Given the description of an element on the screen output the (x, y) to click on. 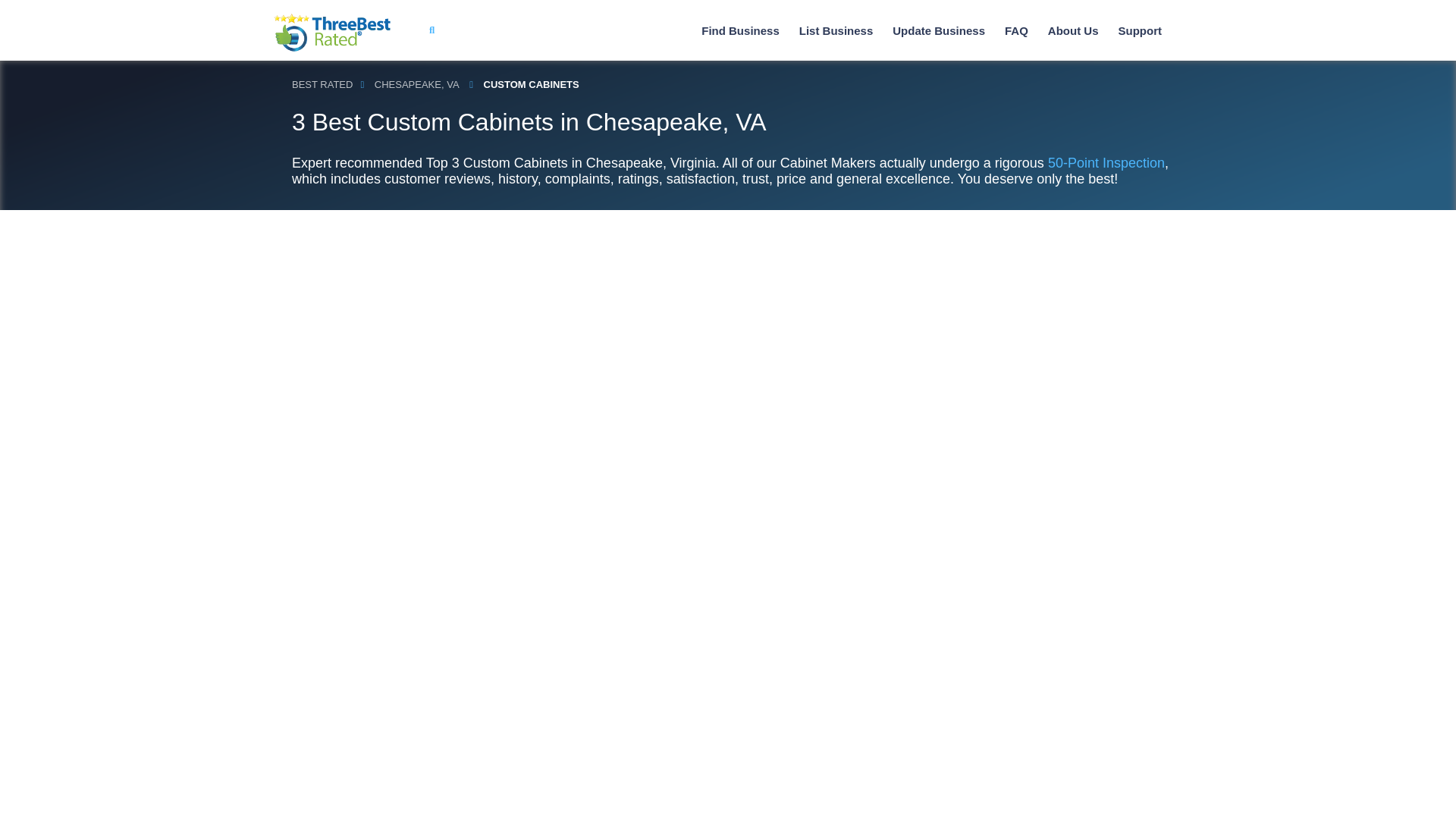
List Business (836, 30)
Find Business (740, 30)
ThreeBestRated.com (331, 32)
50-Point Inspection (1106, 162)
FAQ (1016, 30)
How does Three Best Rated U.S. work? (1073, 30)
Support (1139, 30)
BEST RATED (321, 84)
CHESAPEAKE, VA (416, 84)
Update Business (938, 30)
